Given the description of an element on the screen output the (x, y) to click on. 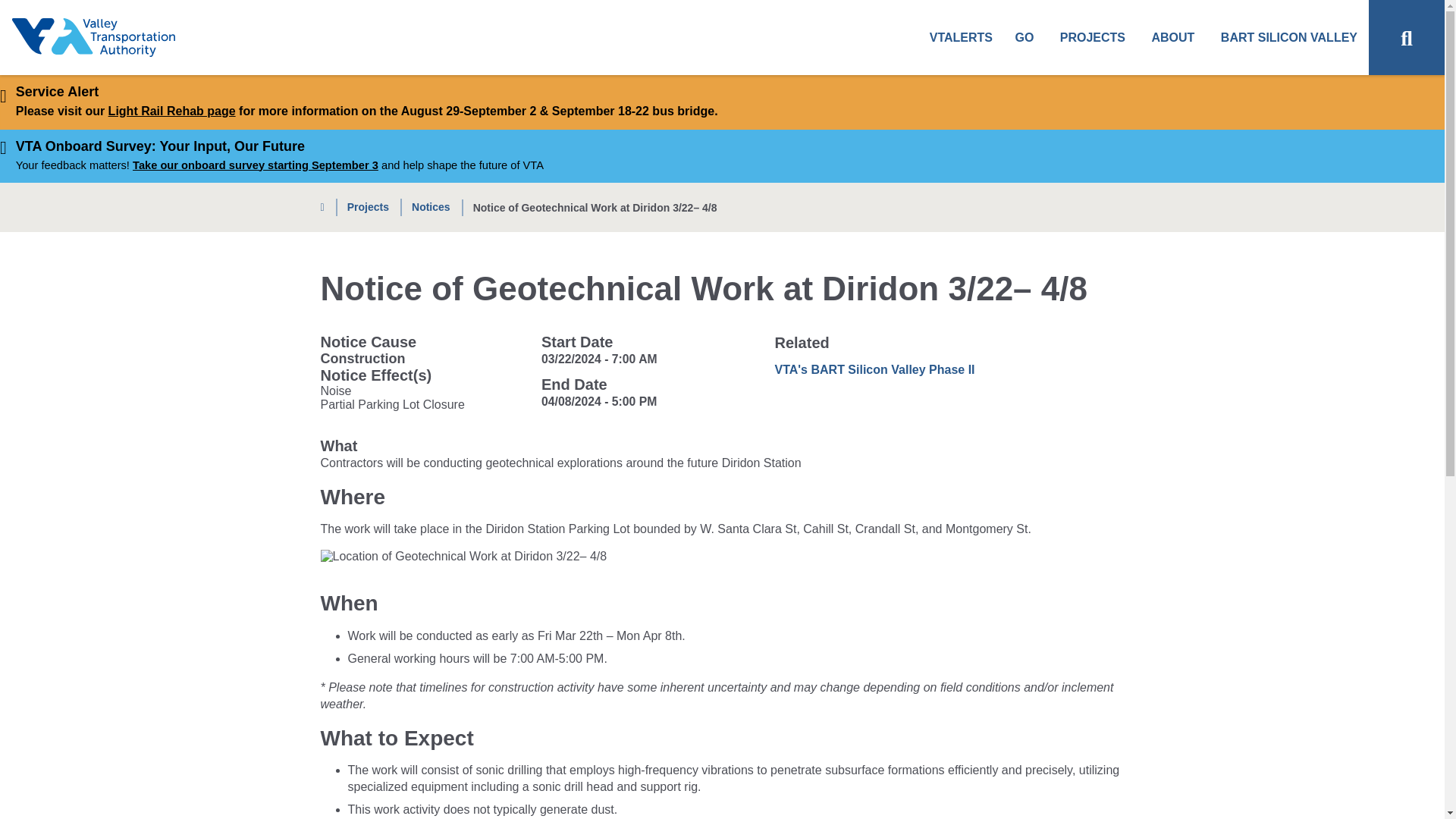
PROJECTS (1092, 37)
BART SILICON VALLEY (1288, 37)
VTALERTS (960, 37)
Santa Clara Valley Transportation Authority Home (92, 37)
Light Rail Rehab (171, 110)
